Given the description of an element on the screen output the (x, y) to click on. 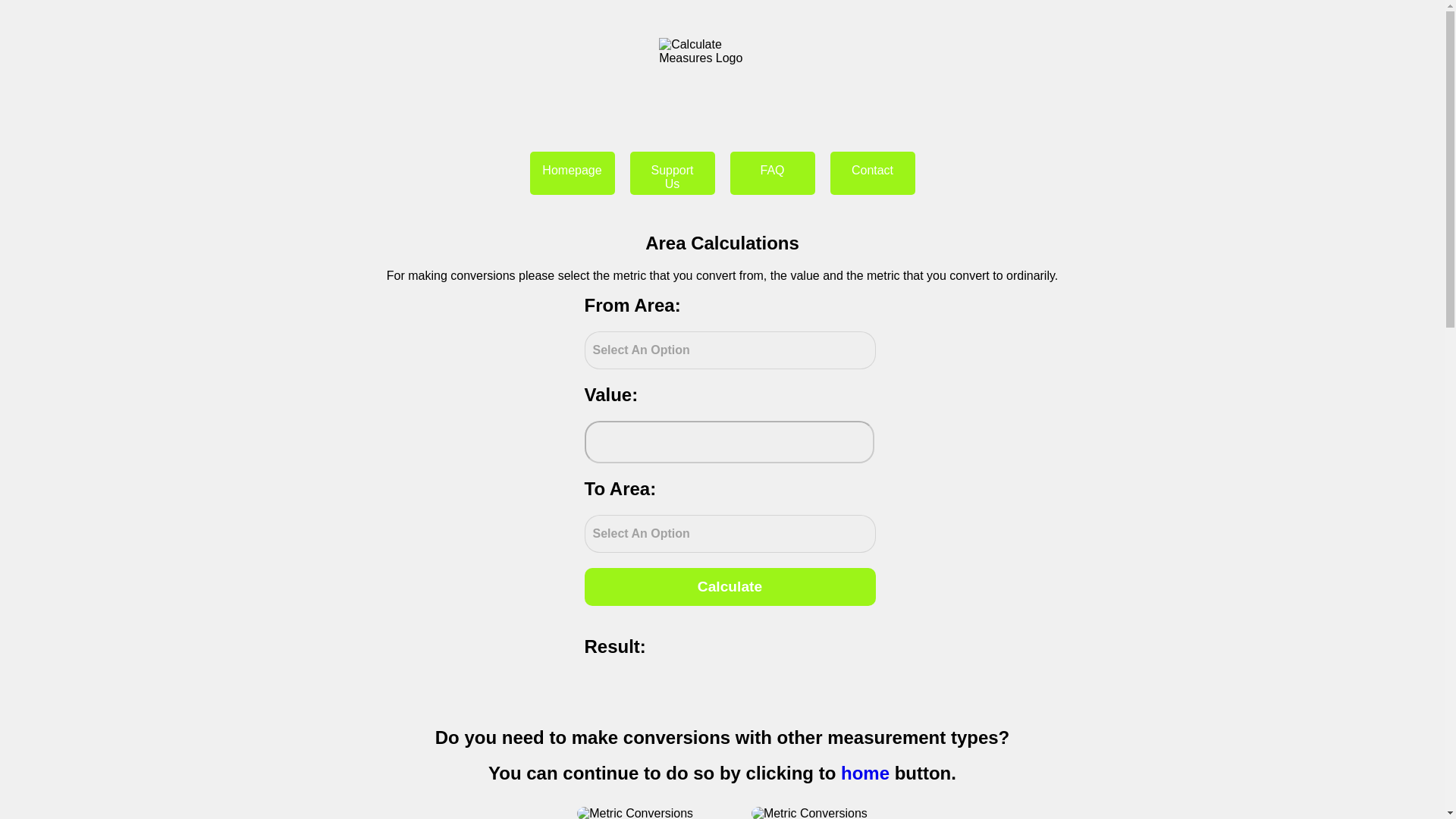
Homepage (571, 172)
Calculate Measures Logo (716, 75)
FAQ (771, 172)
home (865, 772)
Support Us (671, 172)
Most Asked Questions (771, 172)
Contact Us (871, 172)
Support Us (671, 172)
Calculate (729, 587)
Home (571, 172)
